Given the description of an element on the screen output the (x, y) to click on. 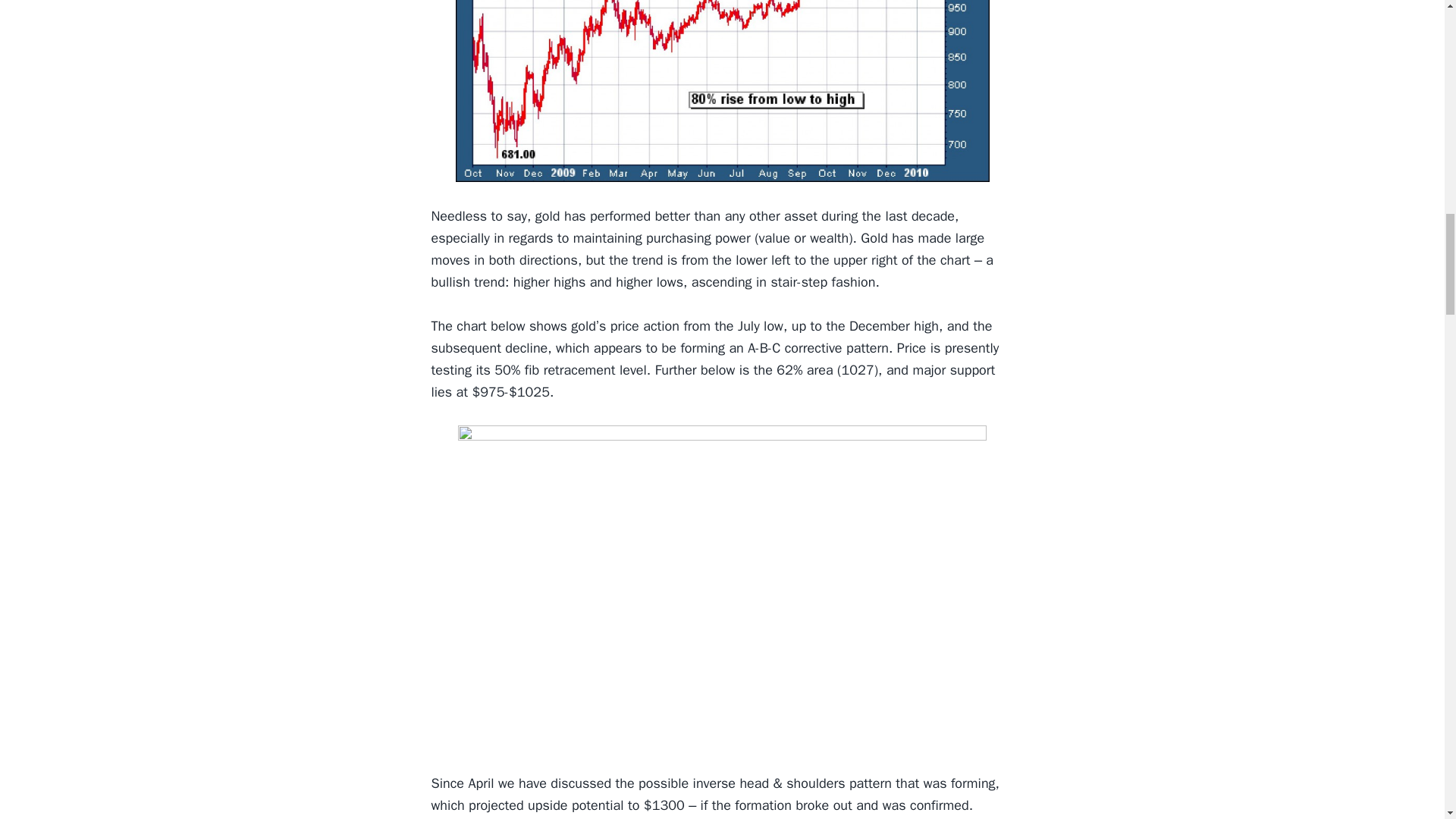
dg3 (721, 90)
